Given the description of an element on the screen output the (x, y) to click on. 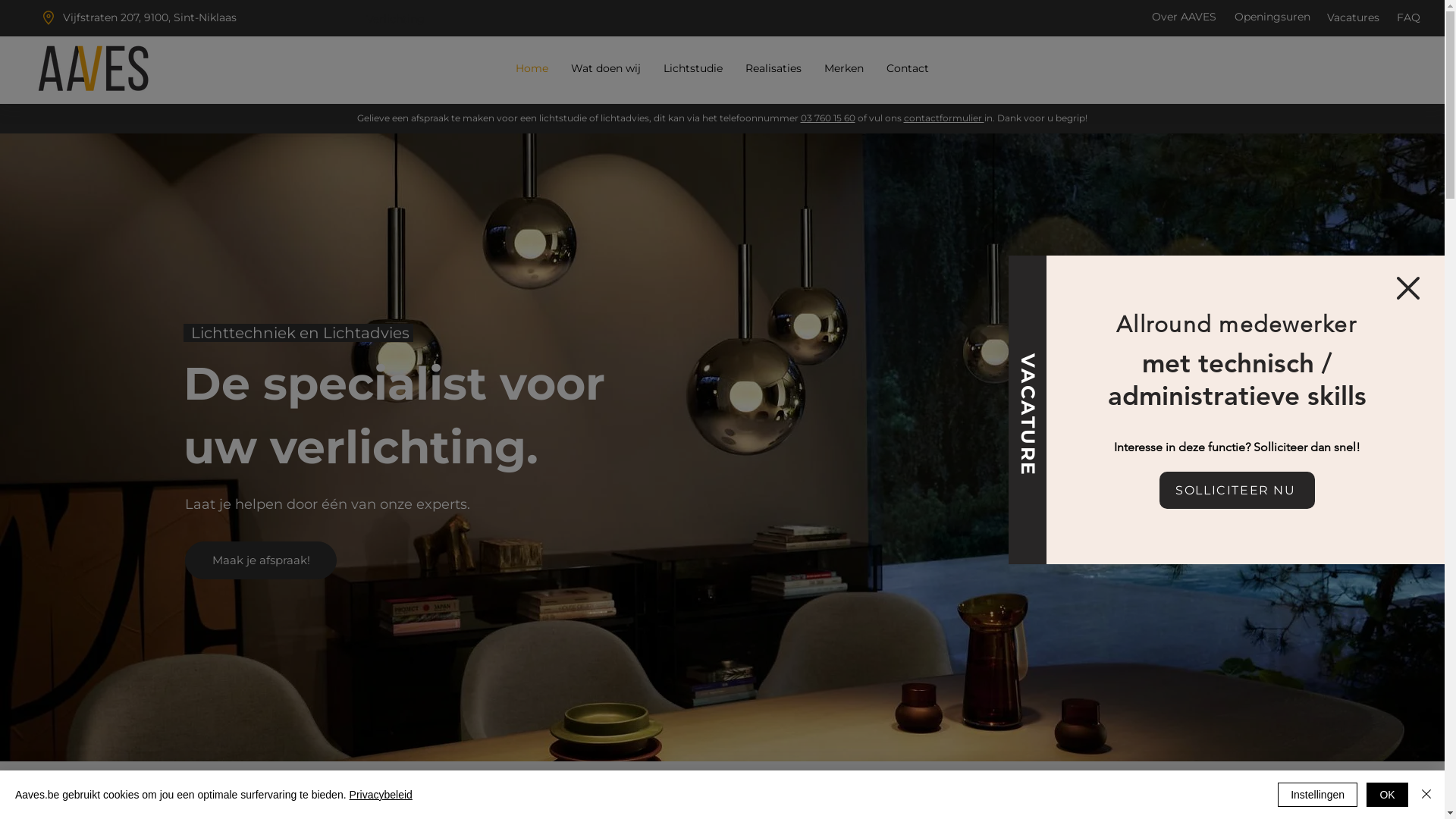
Merken Element type: text (843, 68)
03 760 15 60 Element type: text (827, 117)
Instellingen Element type: text (1317, 794)
FAQ Element type: text (1408, 17)
OK Element type: text (1387, 794)
Wat doen wij Element type: text (605, 68)
Vacatures Element type: text (1353, 17)
Lichtstudie Element type: text (693, 68)
Maak je afspraak! Element type: text (260, 560)
contactformulier Element type: text (943, 117)
Over AAVES Element type: text (1183, 16)
Terug naar de website Element type: hover (1407, 287)
Openingsuren Element type: text (1272, 16)
Realisaties Element type: text (773, 68)
Home Element type: text (530, 68)
Contact Element type: text (907, 68)
Privacybeleid Element type: text (380, 794)
